Given the description of an element on the screen output the (x, y) to click on. 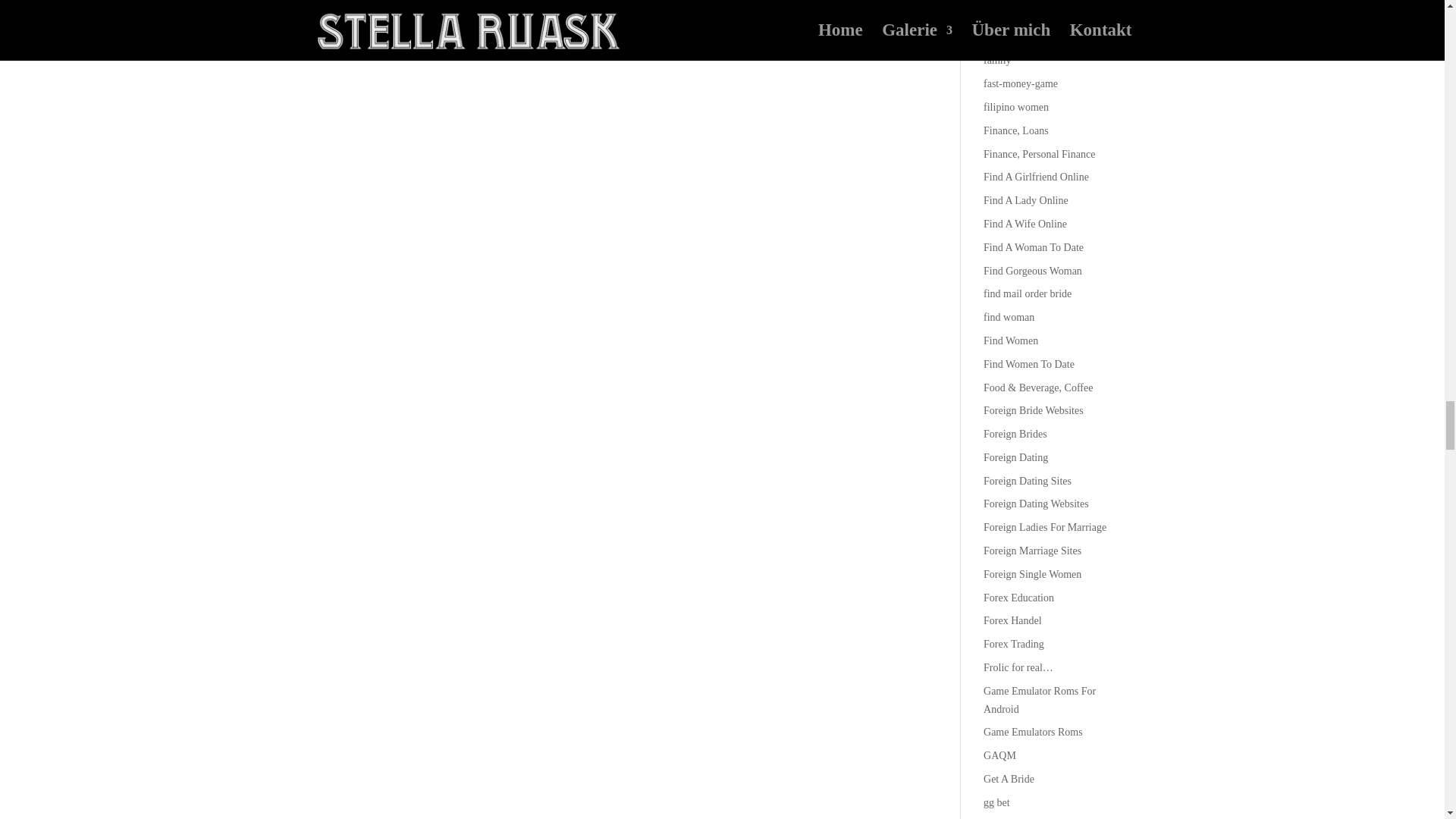
Finance, Personal Finance (1039, 153)
Finance, Loans (1016, 130)
